Given the description of an element on the screen output the (x, y) to click on. 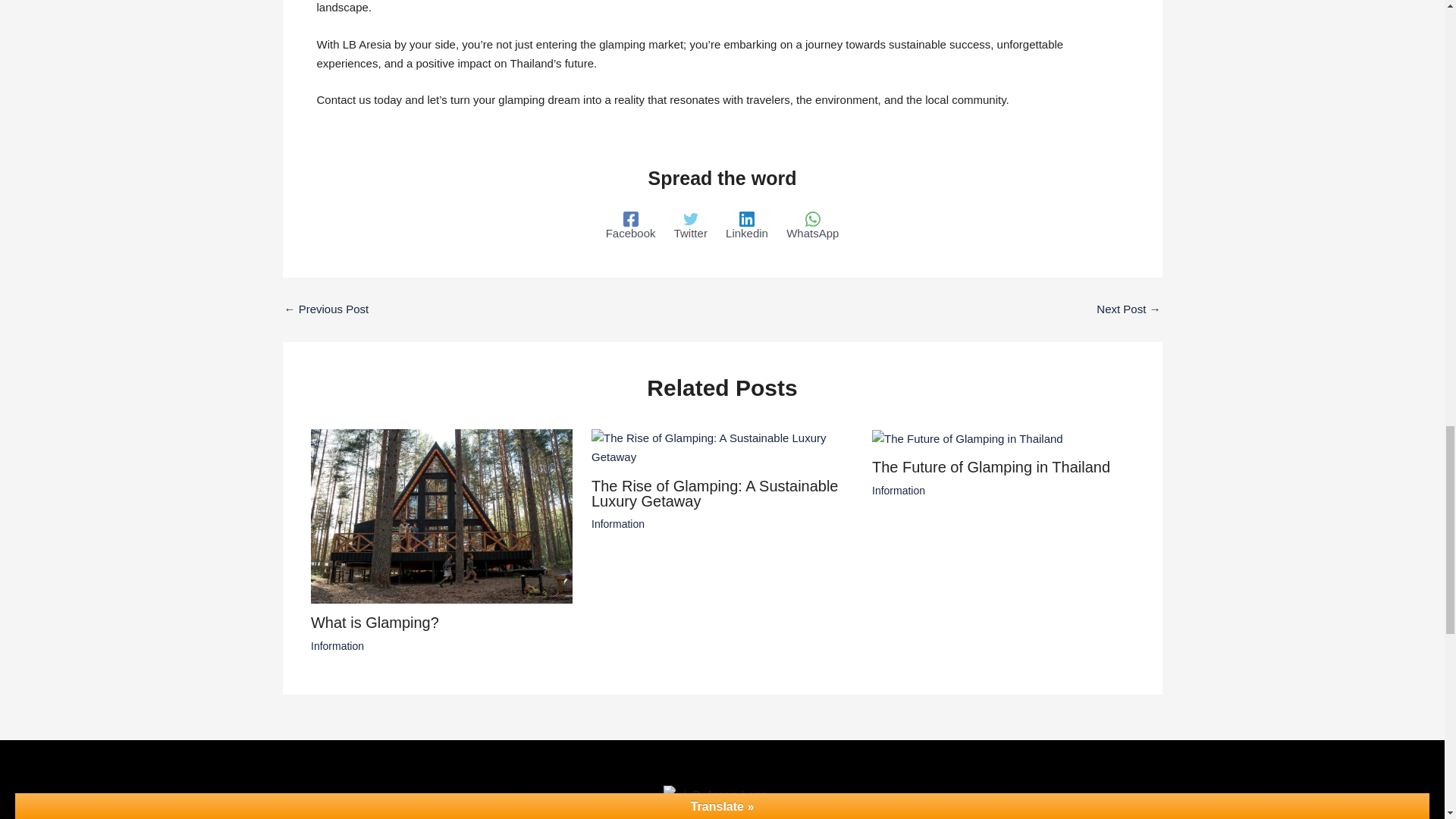
Information (898, 811)
What is Glamping? (375, 788)
Twitter (690, 546)
WhatsApp (812, 546)
Choosing the Right Glamping Tent : A Comprehensive Guide (1128, 629)
Information (337, 811)
Linkedin (746, 546)
The Rise of Glamping: A Sustainable Luxury Getaway (714, 808)
The Future of Glamping in Thailand (990, 788)
Facebook (630, 546)
